Given the description of an element on the screen output the (x, y) to click on. 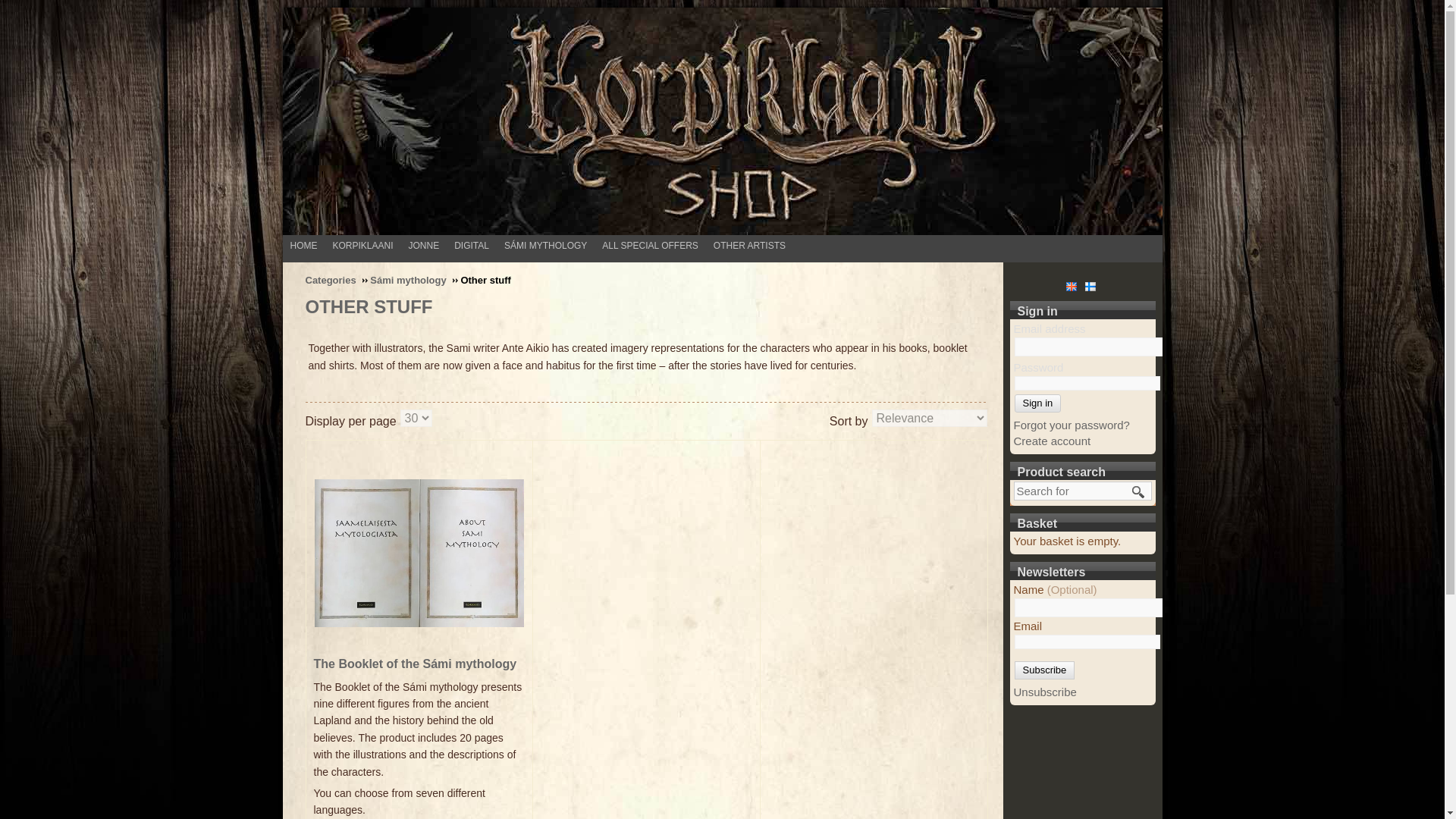
Go to product (419, 553)
Start search (1138, 491)
DIGITAL (475, 244)
JONNE (427, 244)
HOME (306, 244)
KORPIKLAANI (365, 244)
